Given the description of an element on the screen output the (x, y) to click on. 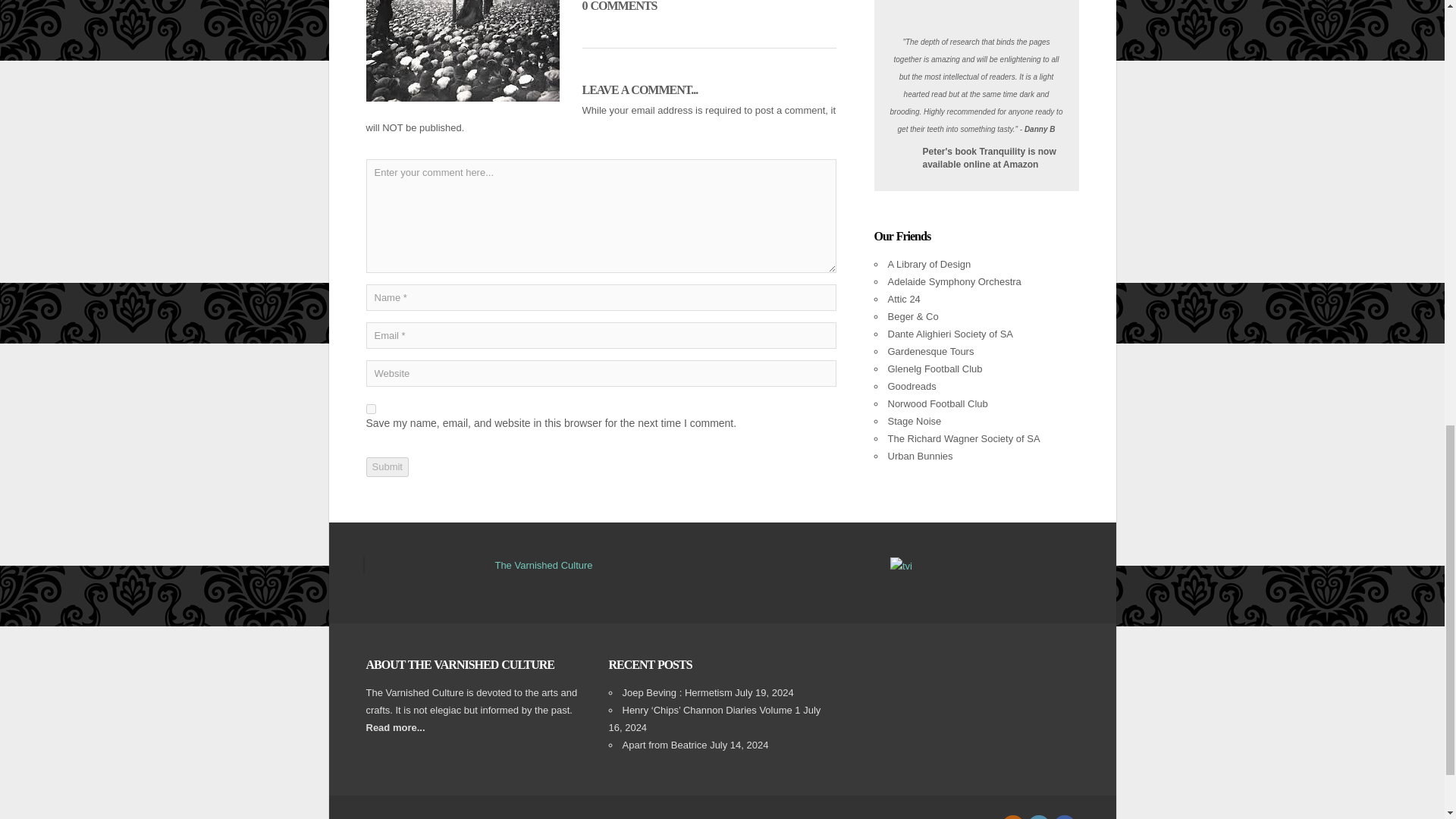
Submit (386, 466)
Submit (386, 466)
yes (370, 409)
